Given the description of an element on the screen output the (x, y) to click on. 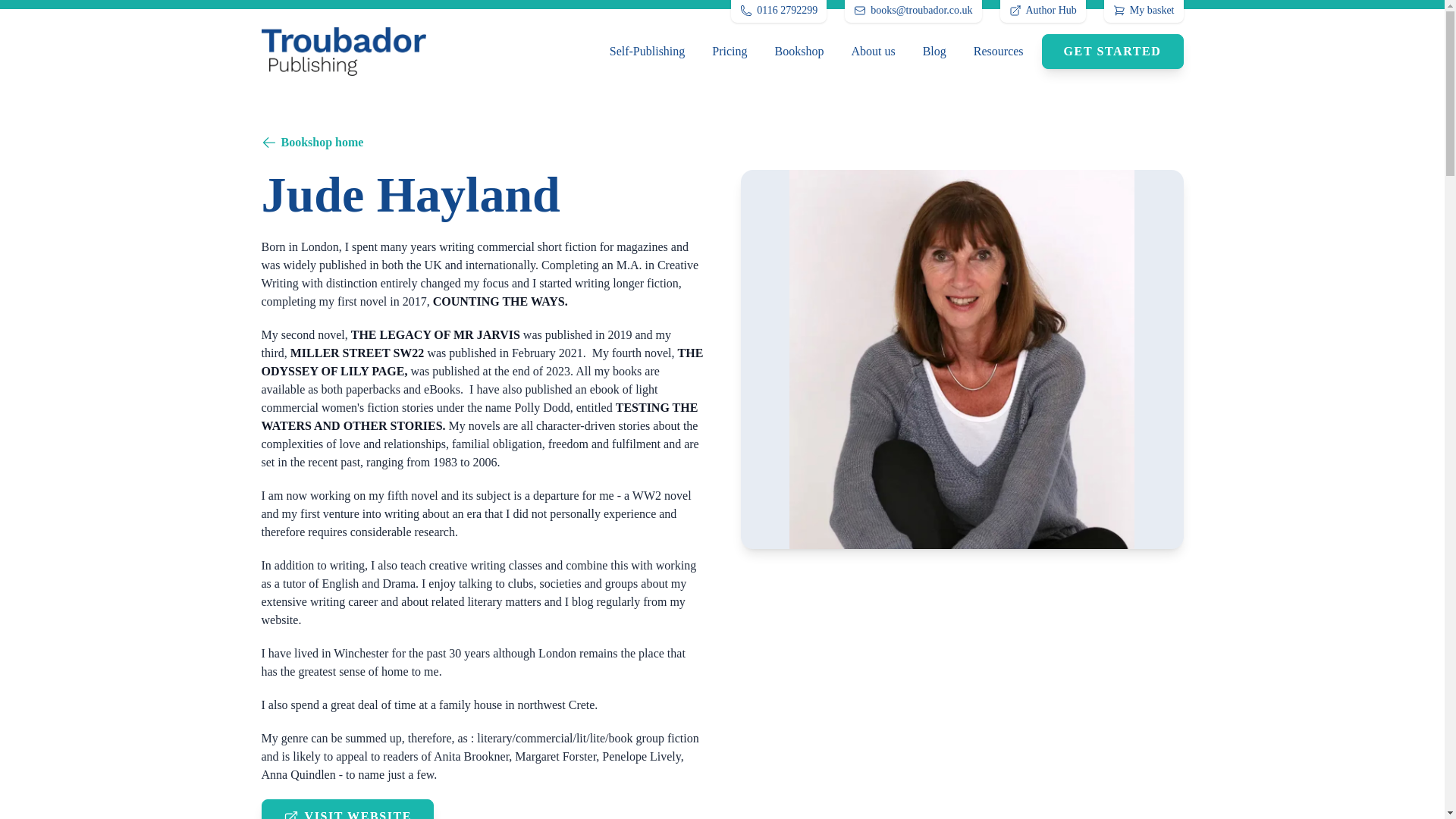
GET STARTED (1112, 51)
0116 2792299 (778, 12)
Resources (997, 51)
About us (872, 51)
Troubador Publishing Ltd (342, 51)
About us (872, 51)
Pricing (729, 51)
Pricing (729, 51)
Author Hub (1041, 12)
Blog (934, 51)
My basket (1143, 12)
Bookshop (798, 51)
Self-Publishing (646, 51)
Resources (997, 51)
Self-Publishing (646, 51)
